Given the description of an element on the screen output the (x, y) to click on. 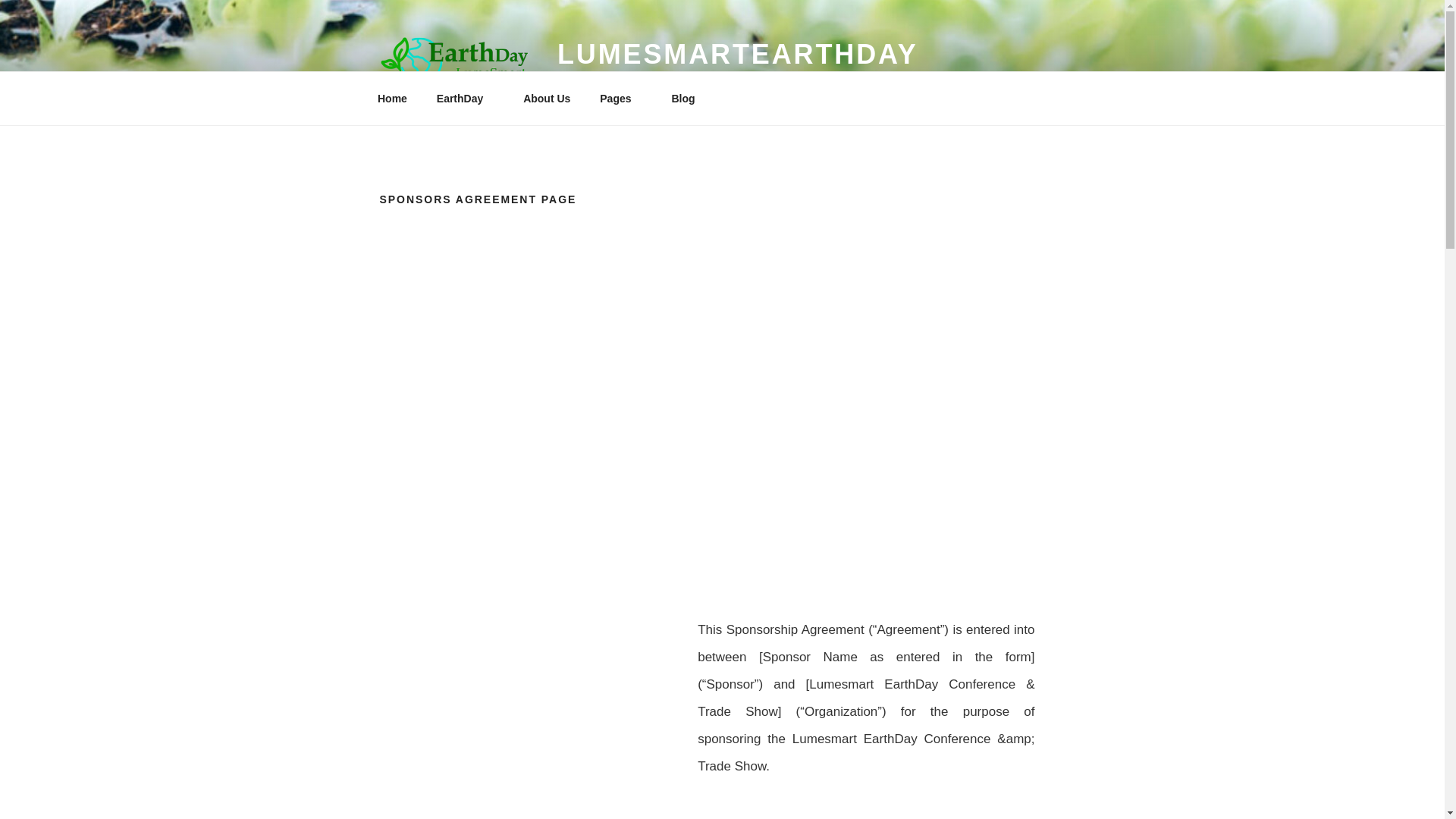
About Us (547, 98)
Blog (682, 98)
Home (392, 98)
EarthDay (464, 98)
Pages (620, 98)
LUMESMARTEARTHDAY (737, 52)
